Given the description of an element on the screen output the (x, y) to click on. 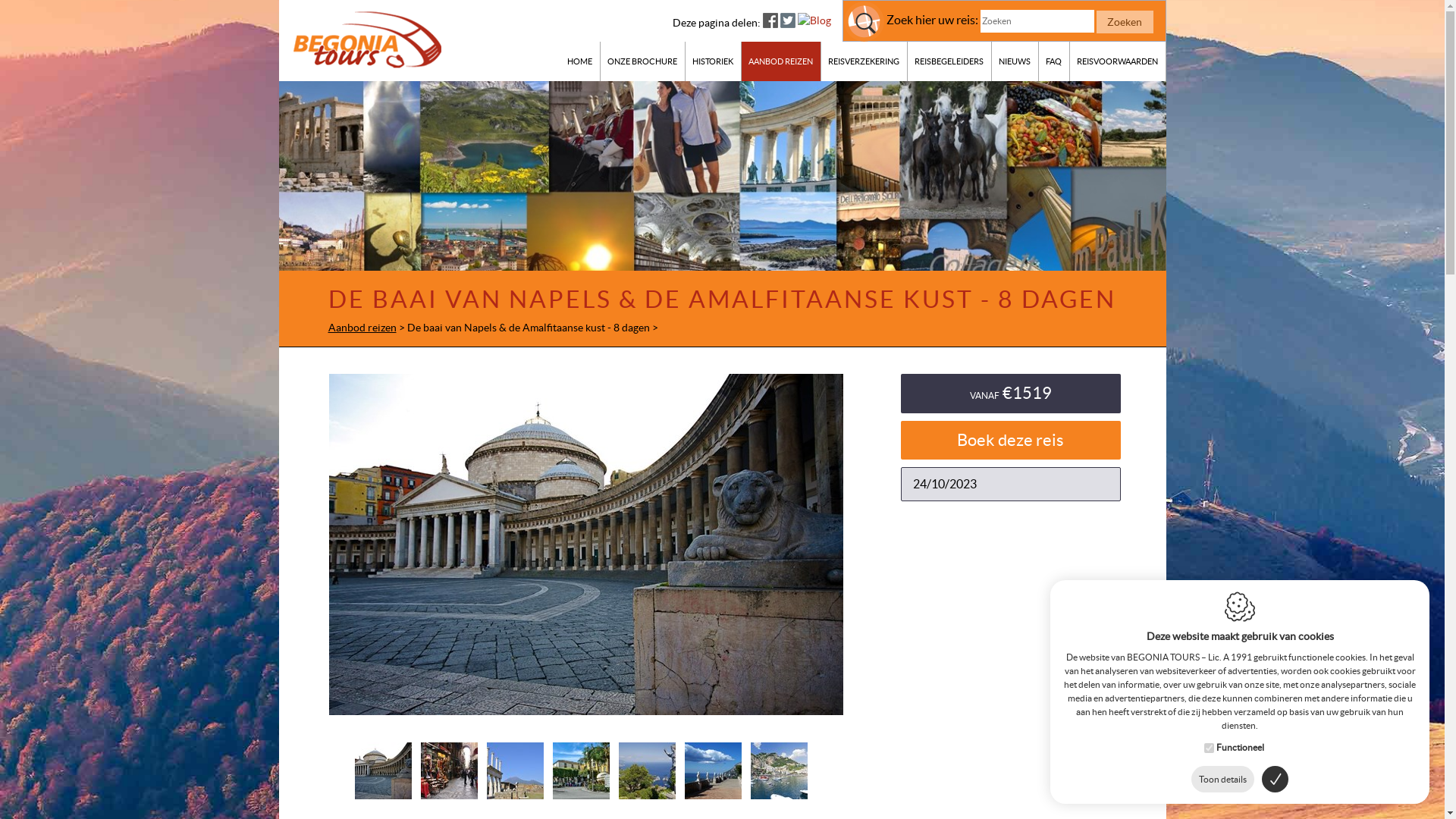
Toon details Element type: text (1222, 778)
REISVOORWAARDEN Element type: text (1117, 61)
Zoeken Element type: text (1124, 21)
ONZE BROCHURE Element type: text (642, 61)
REISBEGELEIDERS Element type: text (948, 61)
HOME Element type: text (579, 61)
Boek deze reis Element type: text (1010, 439)
FAQ Element type: text (1054, 61)
HISTORIEK Element type: text (713, 61)
Aanbod reizen Element type: text (361, 327)
NIEUWS Element type: text (1014, 61)
AANBOD REIZEN Element type: text (781, 61)
REISVERZEKERING Element type: text (863, 61)
